Given the description of an element on the screen output the (x, y) to click on. 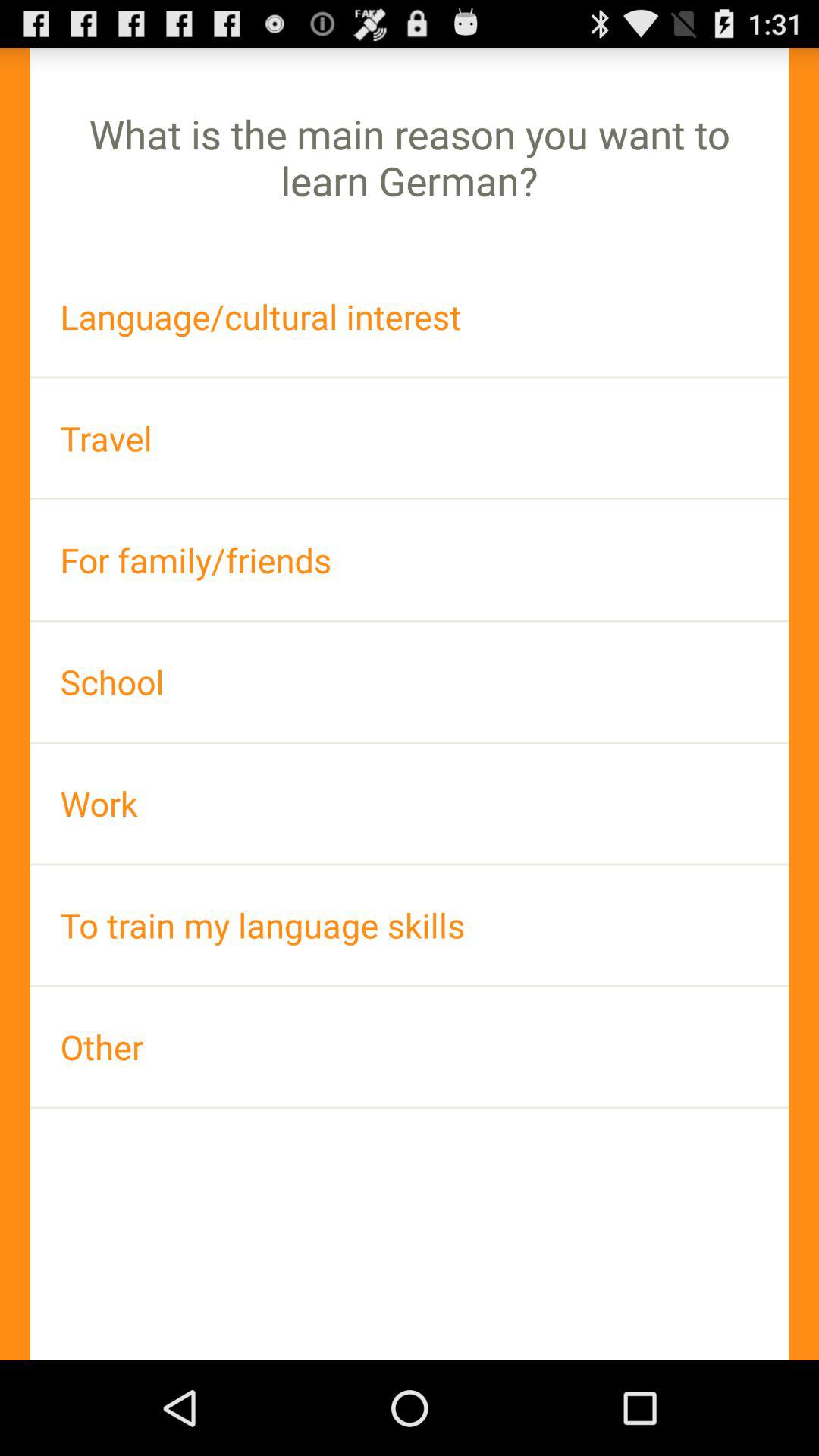
choose the work icon (409, 803)
